Given the description of an element on the screen output the (x, y) to click on. 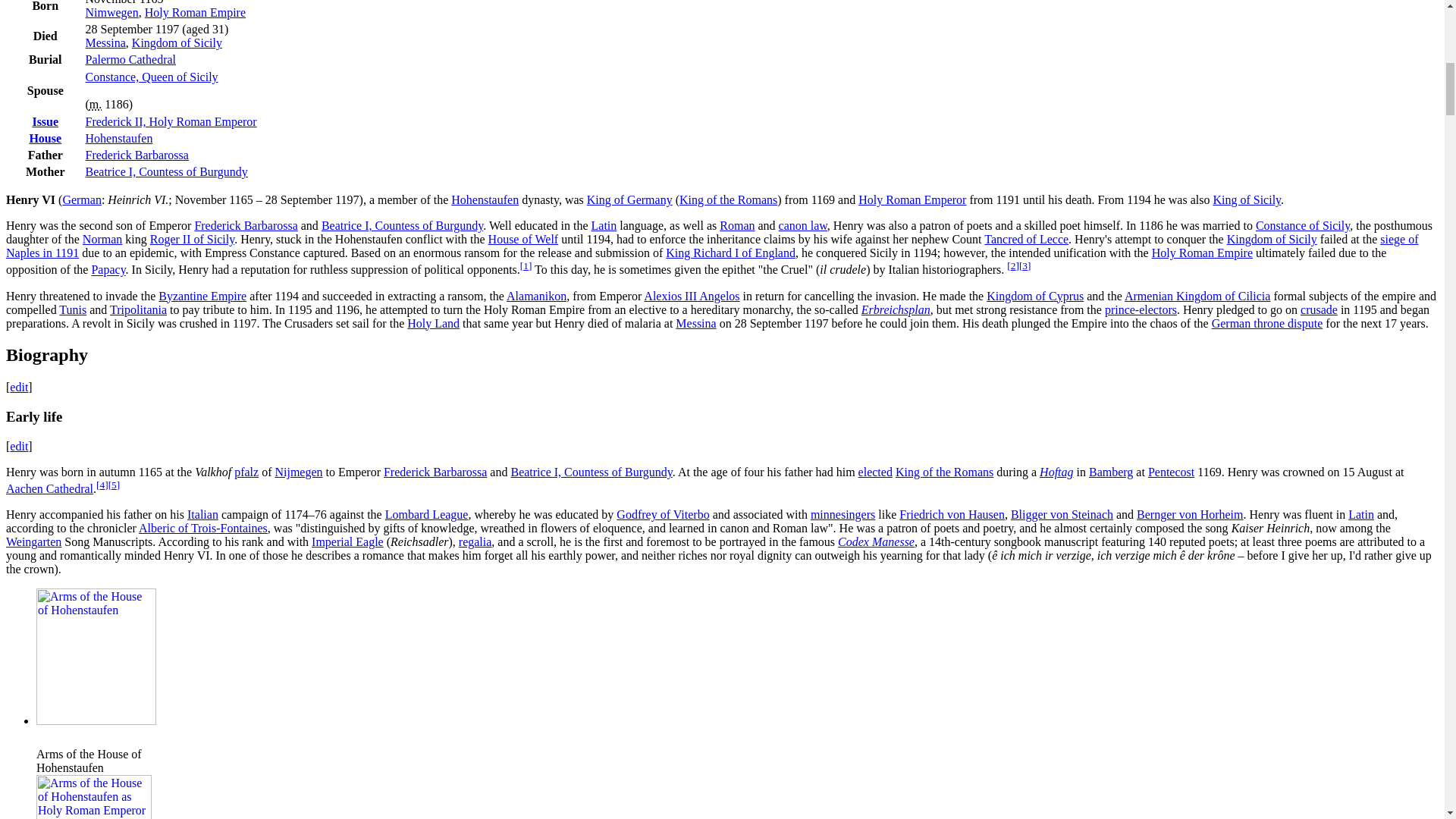
Frederick II, Holy Roman Emperor (171, 121)
Hohenstaufen (484, 199)
Hohenstaufen (118, 137)
Holy Roman Emperor (912, 199)
Issue (45, 121)
House (45, 137)
Frederick Barbarossa (245, 225)
Holy Roman Empire (195, 11)
King of the Romans (728, 199)
King of Sicily (1246, 199)
